Given the description of an element on the screen output the (x, y) to click on. 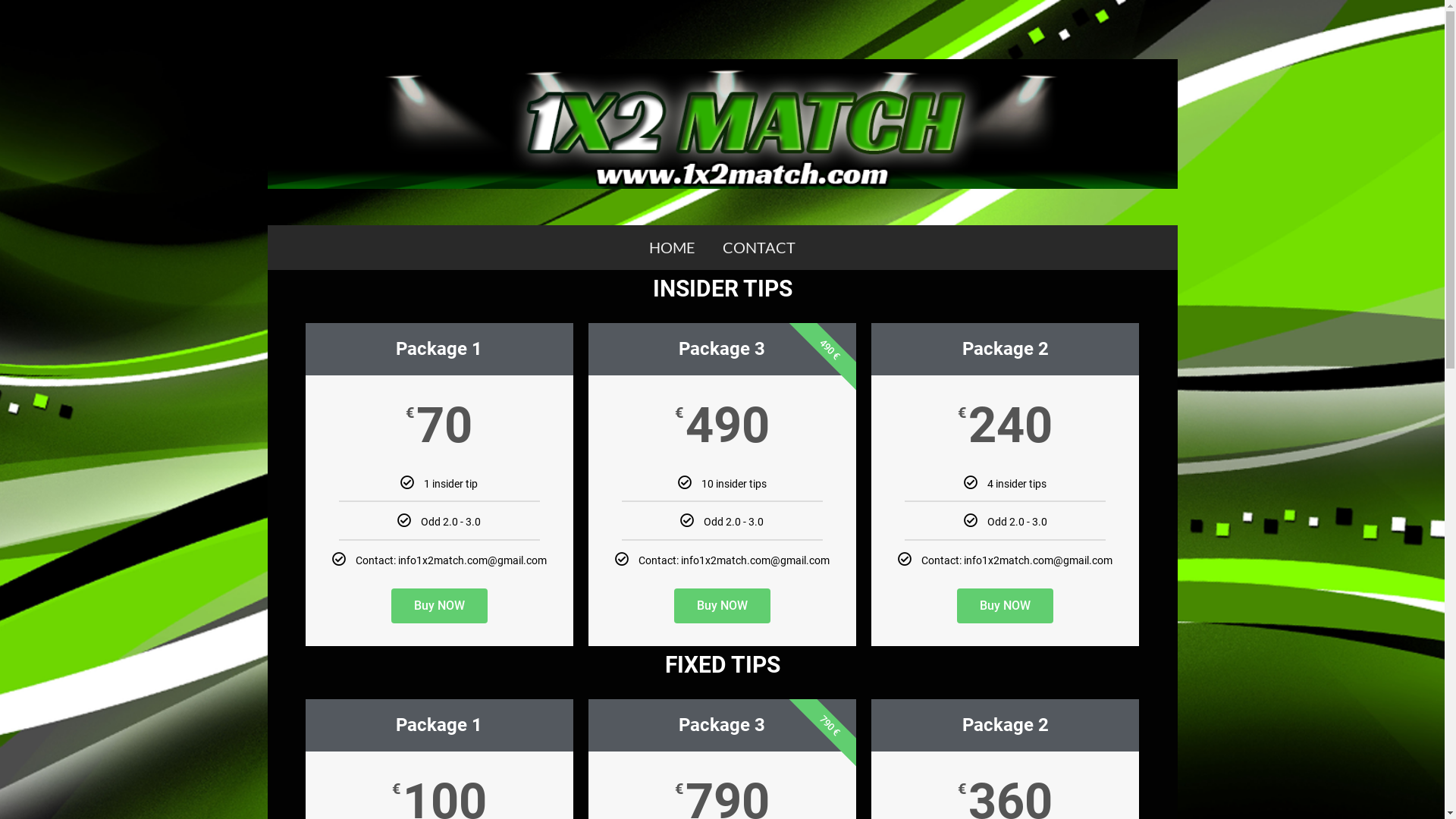
Buy NOW Element type: text (722, 605)
Buy NOW Element type: text (1005, 605)
CONTACT Element type: text (758, 247)
HOME Element type: text (672, 247)
Buy NOW Element type: text (439, 605)
